Given the description of an element on the screen output the (x, y) to click on. 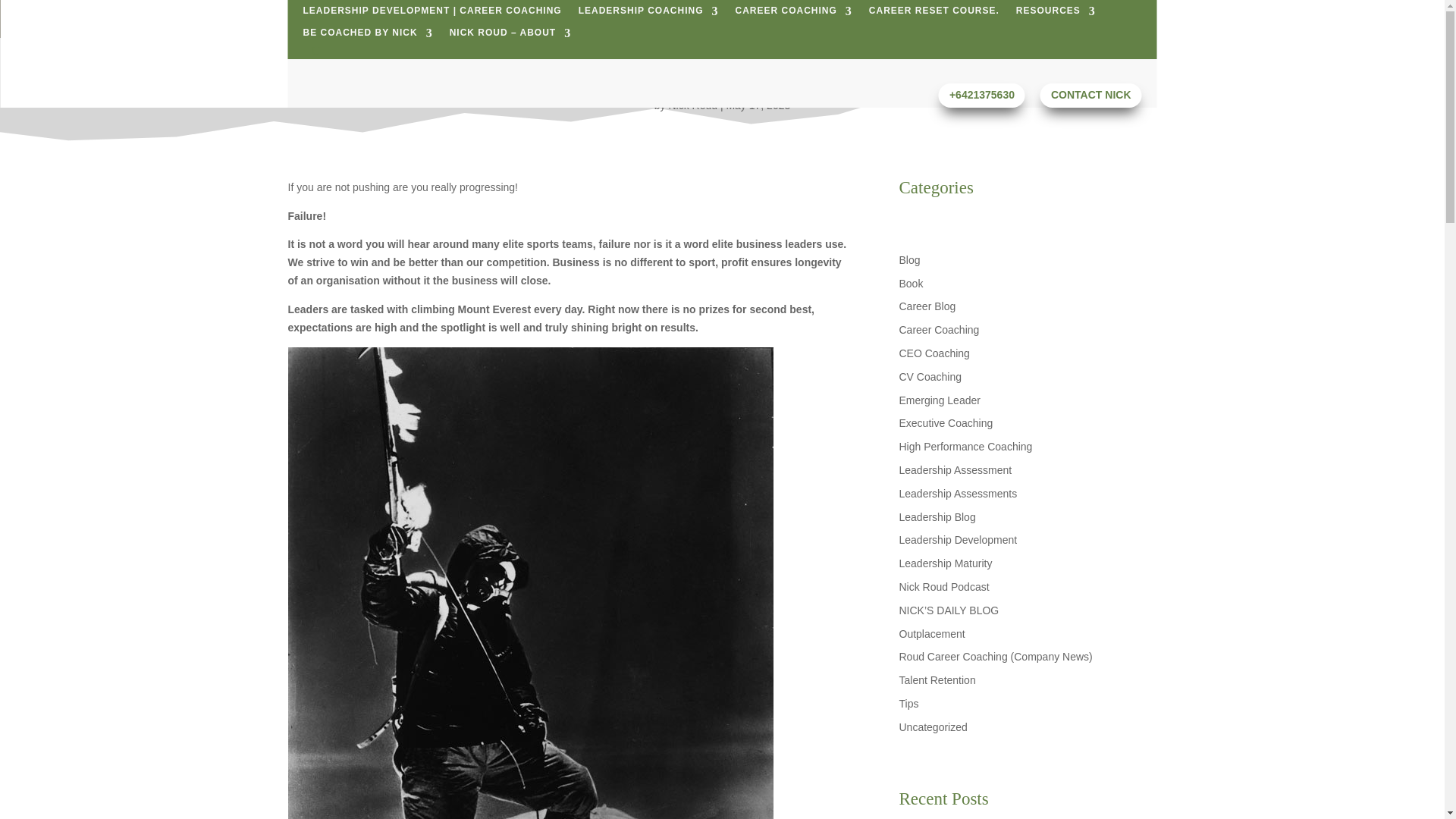
BE COACHED BY NICK (367, 35)
CAREER RESET COURSE. (933, 13)
LEADERSHIP COACHING (648, 13)
CAREER COACHING (793, 13)
RESOURCES (1056, 13)
Posts by Nick Roud (692, 105)
